Given the description of an element on the screen output the (x, y) to click on. 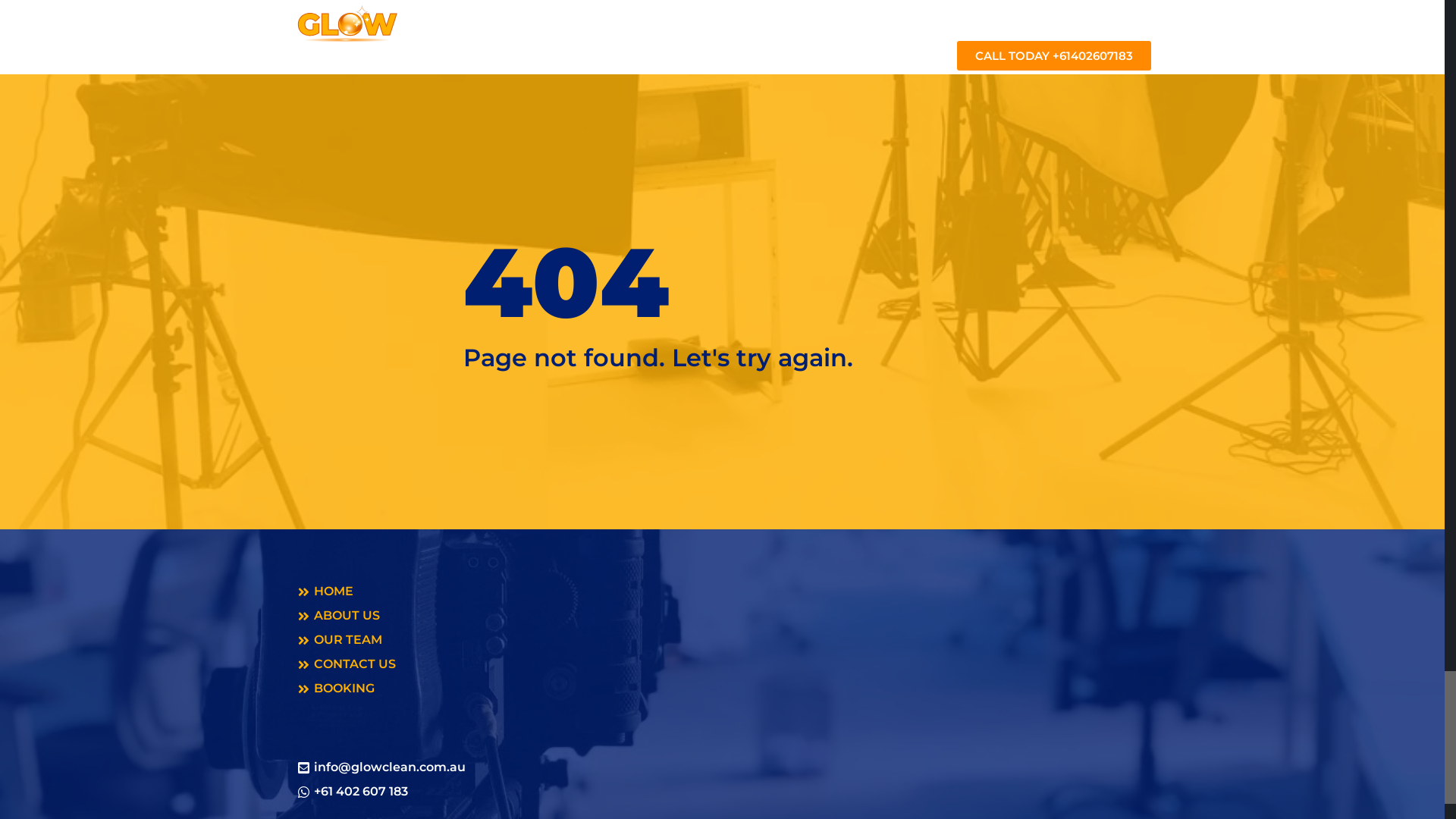
HOME Element type: text (678, 18)
BOOKING Element type: text (721, 688)
ABOUT US Element type: text (772, 18)
ABOUT US Element type: text (721, 615)
OUR TEAM Element type: text (878, 18)
CONTACT US Element type: text (721, 664)
+61 402 607 183 Element type: text (721, 791)
CONTACT US Element type: text (991, 18)
HOME Element type: text (721, 591)
CALL TODAY +61402607183 Element type: text (1054, 55)
OUR TEAM Element type: text (721, 639)
BOOKING Element type: text (1095, 18)
